Given the description of an element on the screen output the (x, y) to click on. 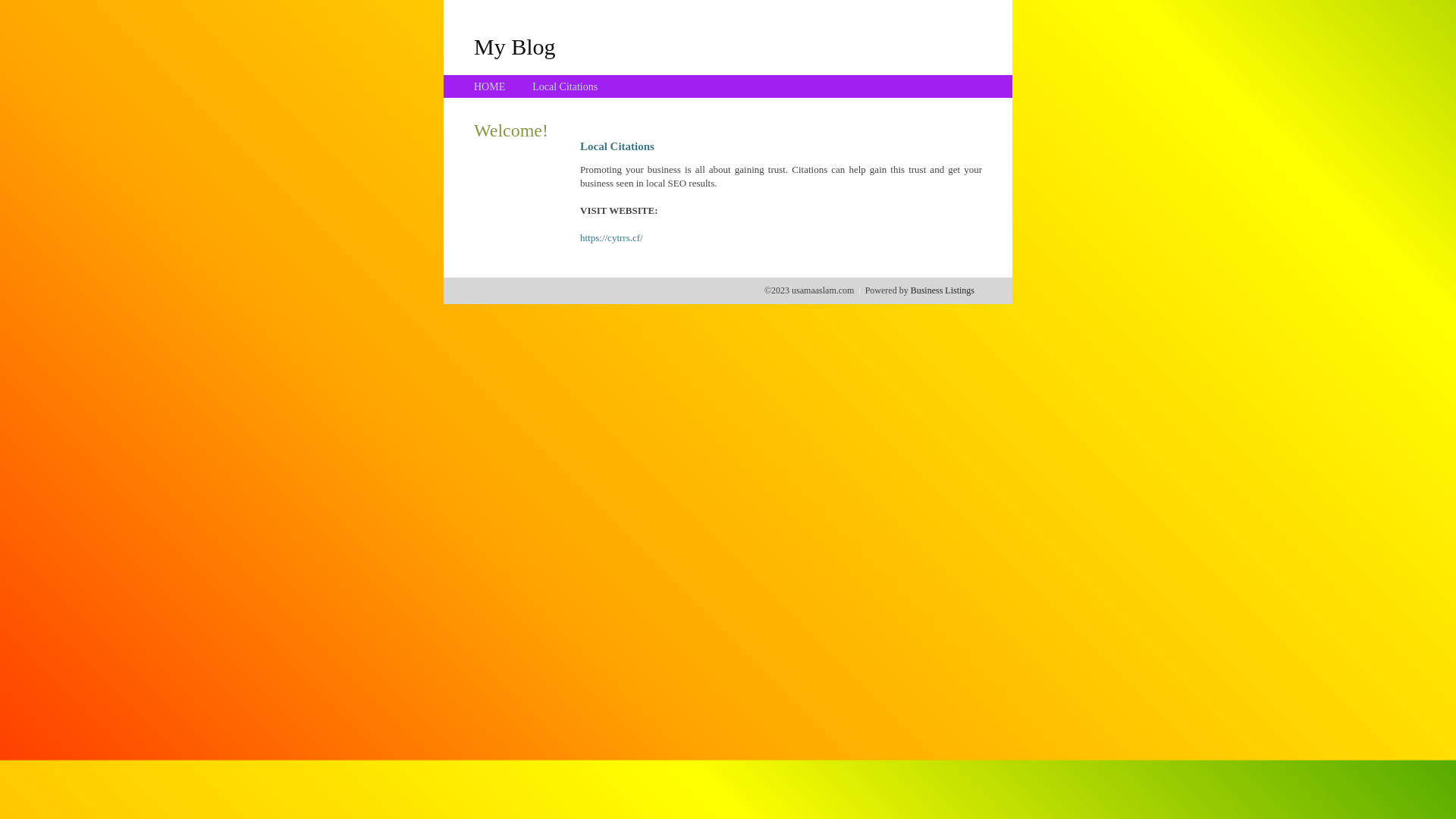
Local Citations Element type: text (564, 86)
HOME Element type: text (489, 86)
Business Listings Element type: text (942, 290)
My Blog Element type: text (514, 46)
https://cytrrs.cf/ Element type: text (611, 237)
